Given the description of an element on the screen output the (x, y) to click on. 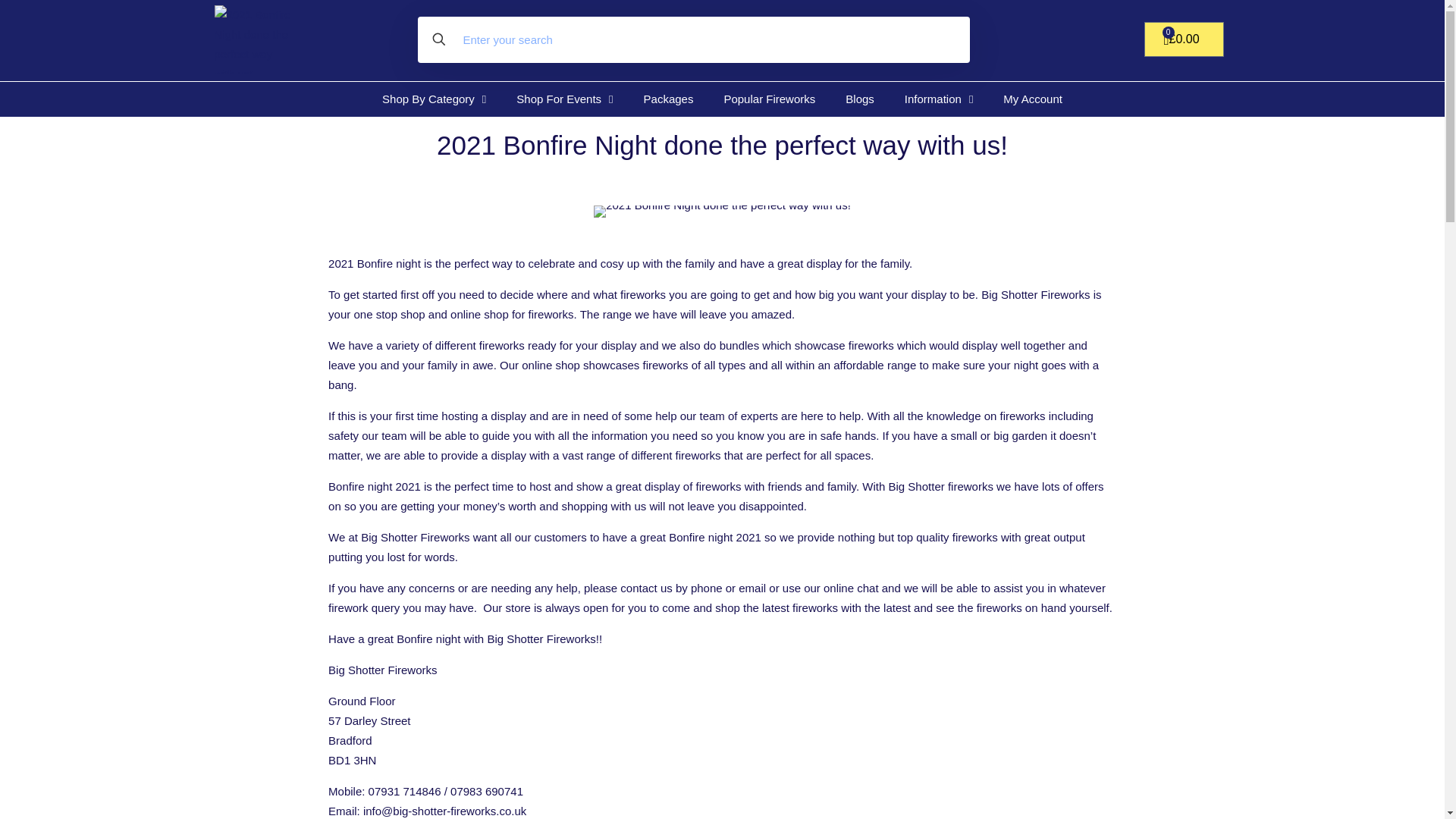
Information (938, 99)
My Account (1032, 99)
Blogs (859, 99)
Popular Fireworks (768, 99)
2021 Bonfire Night done the perfect way with us! (722, 211)
Packages (668, 99)
Shop For Events (563, 99)
Shop By Category (433, 99)
2021 Bonfire Night done the perfect way with us! (254, 38)
